Given the description of an element on the screen output the (x, y) to click on. 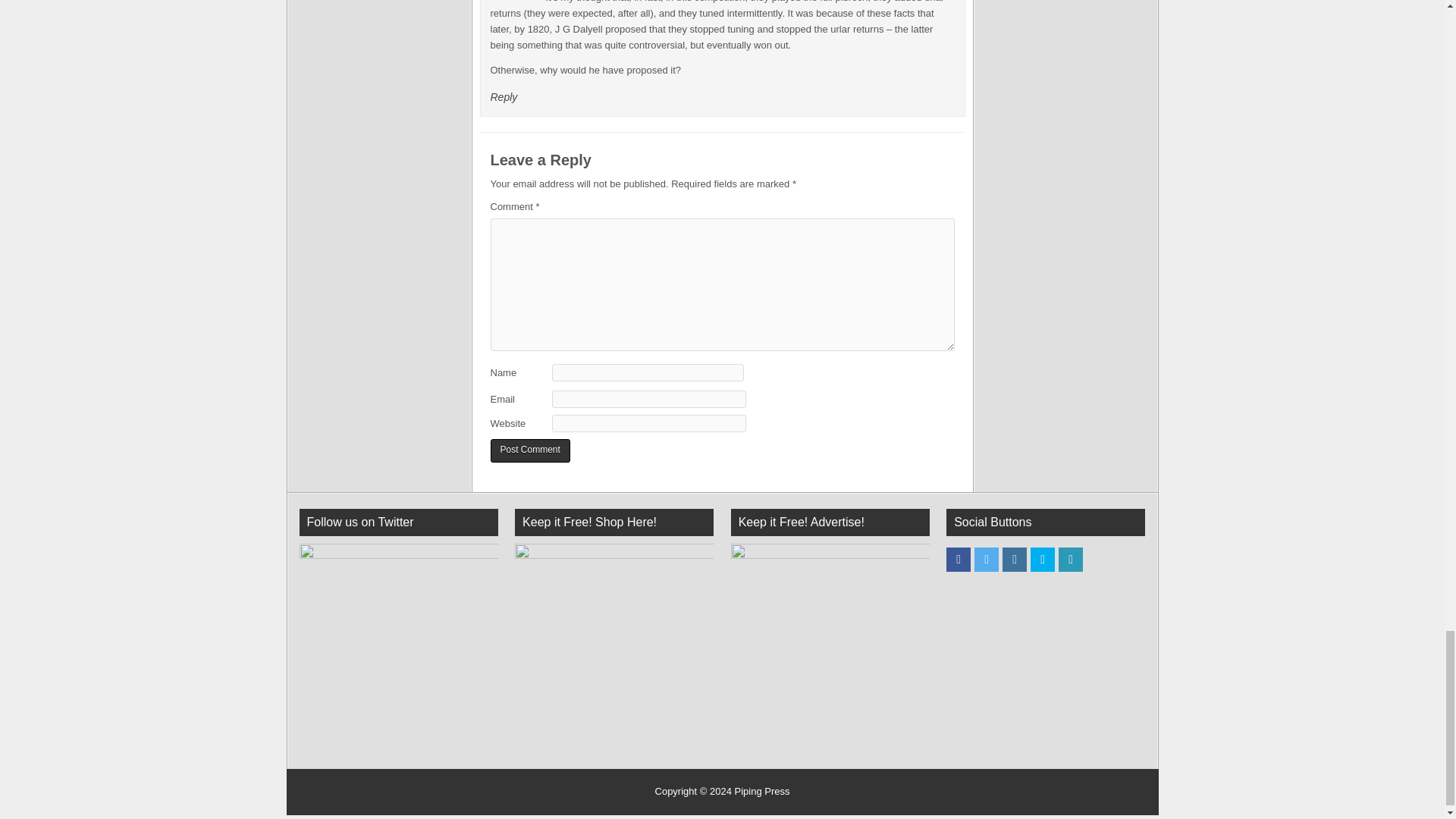
Post Comment (529, 450)
